Given the description of an element on the screen output the (x, y) to click on. 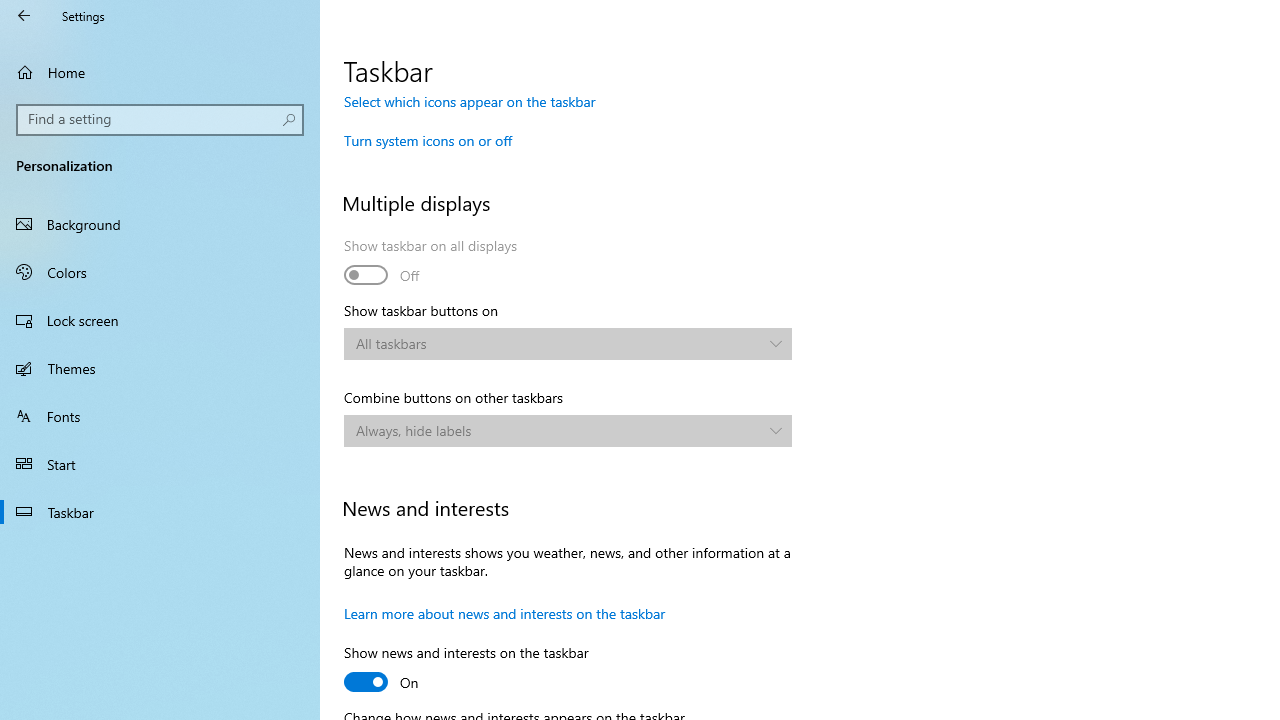
Fonts (160, 415)
Combine buttons on other taskbars (568, 430)
How do I customize taskbars? (435, 2)
